Given the description of an element on the screen output the (x, y) to click on. 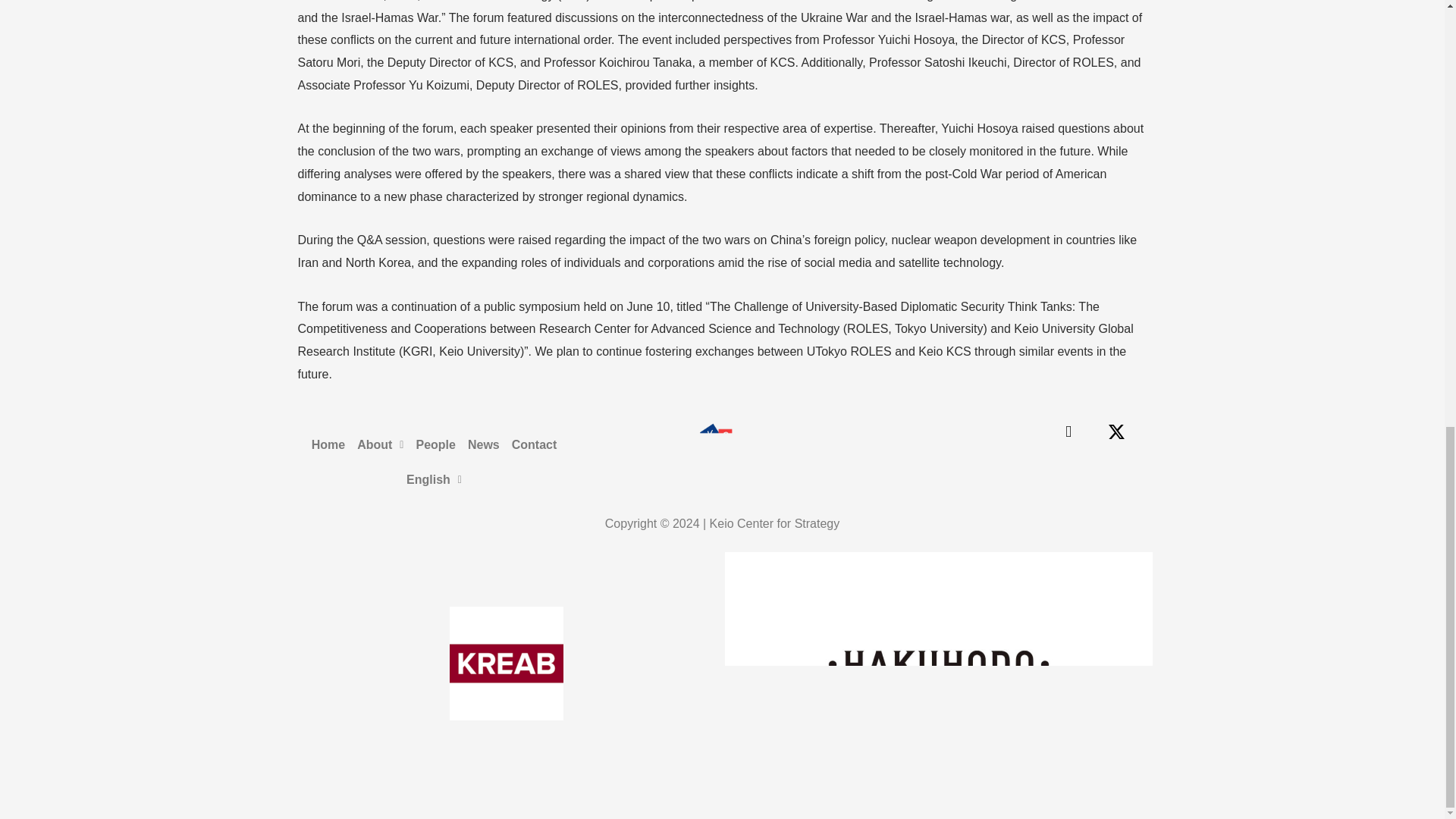
Contact (534, 444)
Home (327, 444)
People (435, 444)
News (483, 444)
About (379, 444)
English (433, 479)
